Given the description of an element on the screen output the (x, y) to click on. 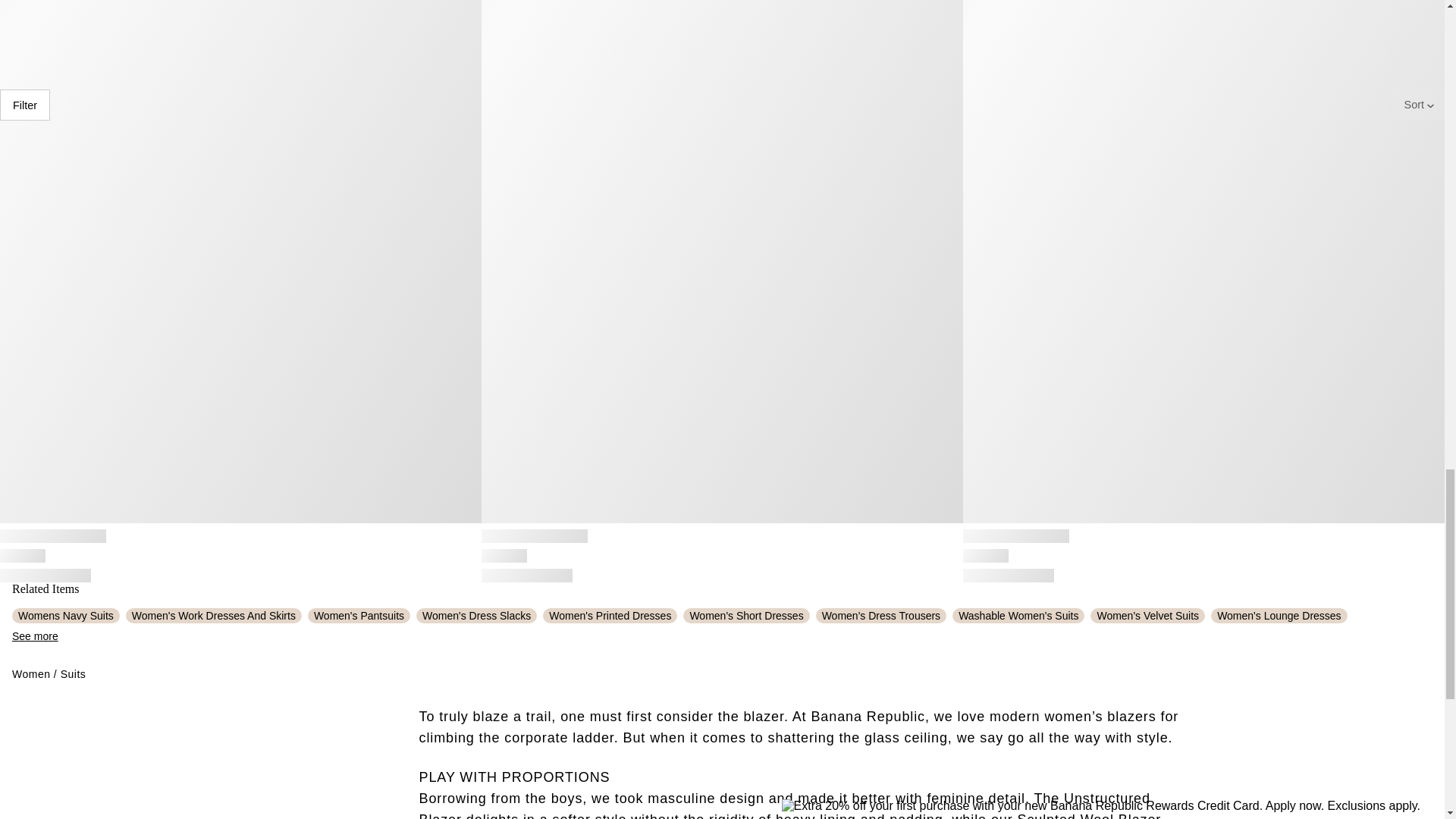
Women'S Dress Slacks (476, 615)
Women'S Pantsuits (358, 615)
Women'S Work Dresses And Skirts (213, 615)
Womens Navy Suits (65, 615)
Women'S Printed Dresses (610, 615)
Women'S Short Dresses (745, 615)
